Given the description of an element on the screen output the (x, y) to click on. 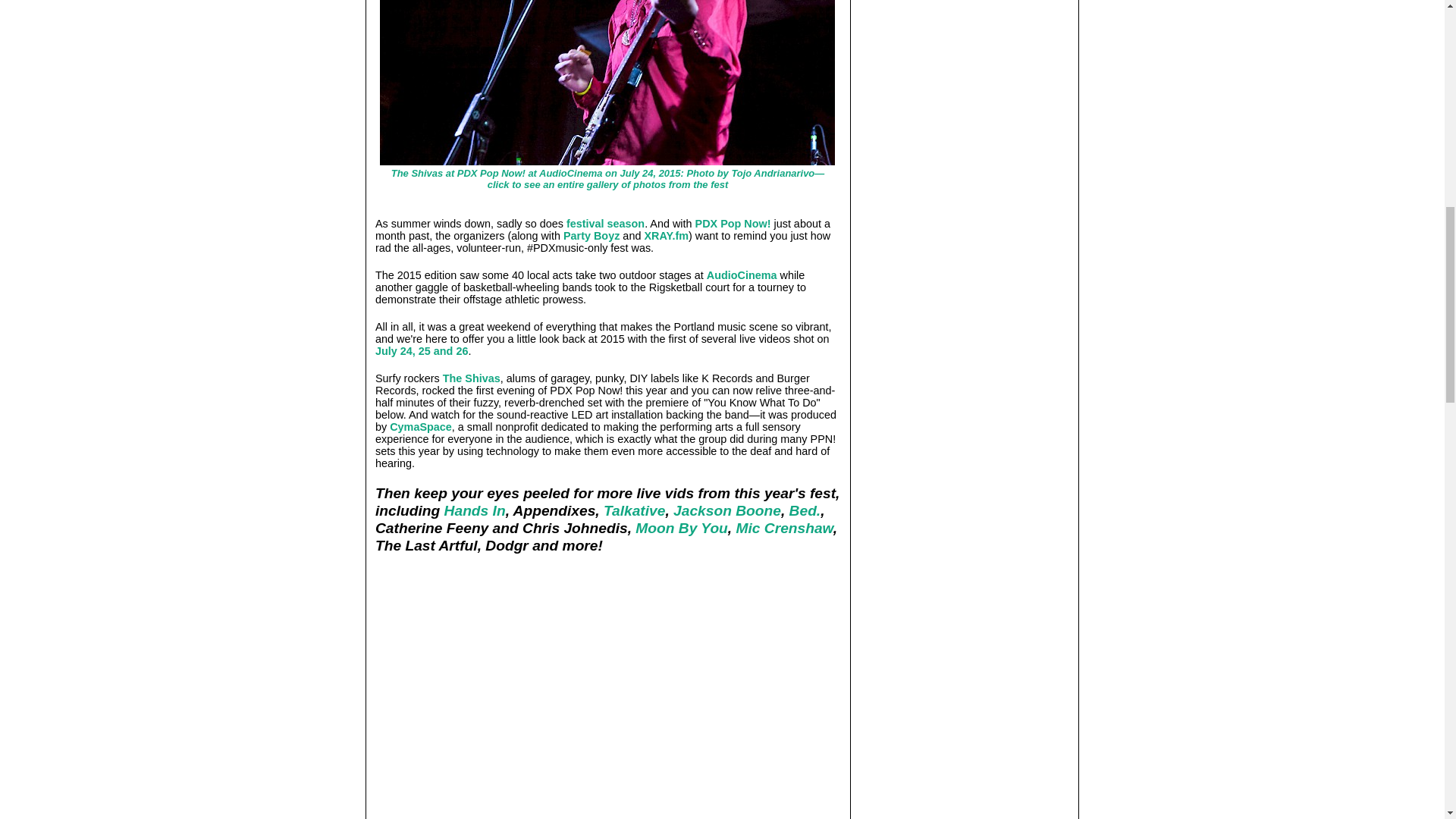
The Shivas (471, 378)
Mic Crenshaw (784, 528)
Bed. (805, 510)
XRAY.fm (665, 234)
festival season (605, 223)
PDX Pop Now! (733, 223)
Jackson Boone (726, 510)
Party Boyz (591, 234)
Moon By You (681, 528)
AudioCinema (741, 275)
